Given the description of an element on the screen output the (x, y) to click on. 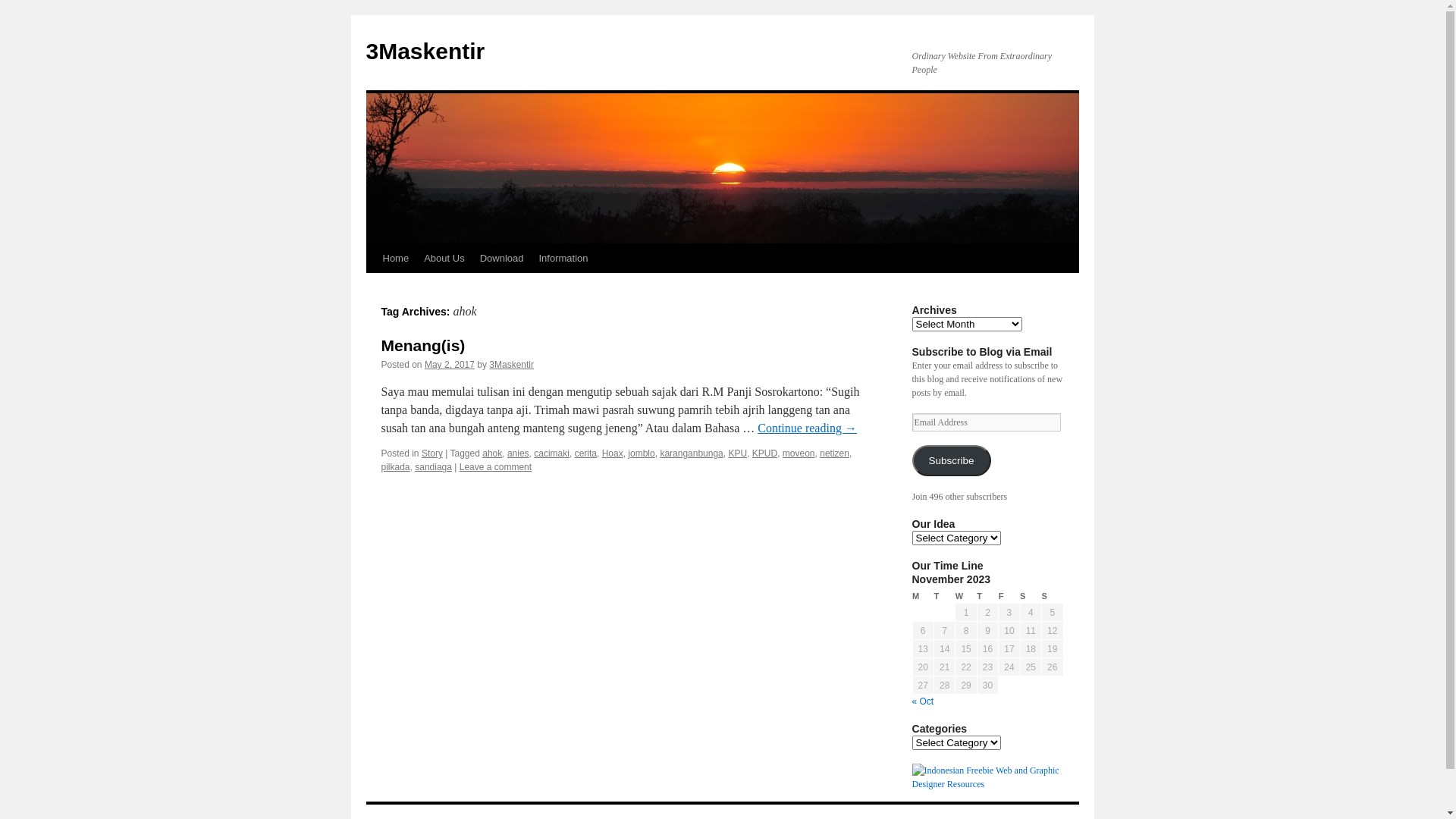
karanganbunga Element type: text (690, 453)
About Us Element type: text (443, 258)
3Maskentir Element type: text (511, 364)
ahok Element type: text (492, 453)
Skip to content Element type: text (372, 286)
Subscribe Element type: text (950, 460)
sandiaga Element type: text (432, 466)
Download Element type: text (501, 258)
Story Element type: text (431, 453)
jomblo Element type: text (640, 453)
KPUD Element type: text (764, 453)
Home Element type: text (395, 258)
moveon Element type: text (798, 453)
Information Element type: text (562, 258)
cacimaki Element type: text (551, 453)
Leave a comment Element type: text (495, 466)
Menang(is) Element type: text (422, 345)
netizen Element type: text (834, 453)
May 2, 2017 Element type: text (449, 364)
KPU Element type: text (737, 453)
3Maskentir Element type: text (424, 50)
anies Element type: text (518, 453)
Hoax Element type: text (612, 453)
cerita Element type: text (585, 453)
pilkada Element type: text (394, 466)
Indonesian Freebie Web and Graphic Designer Resources Element type: hover (987, 783)
